Given the description of an element on the screen output the (x, y) to click on. 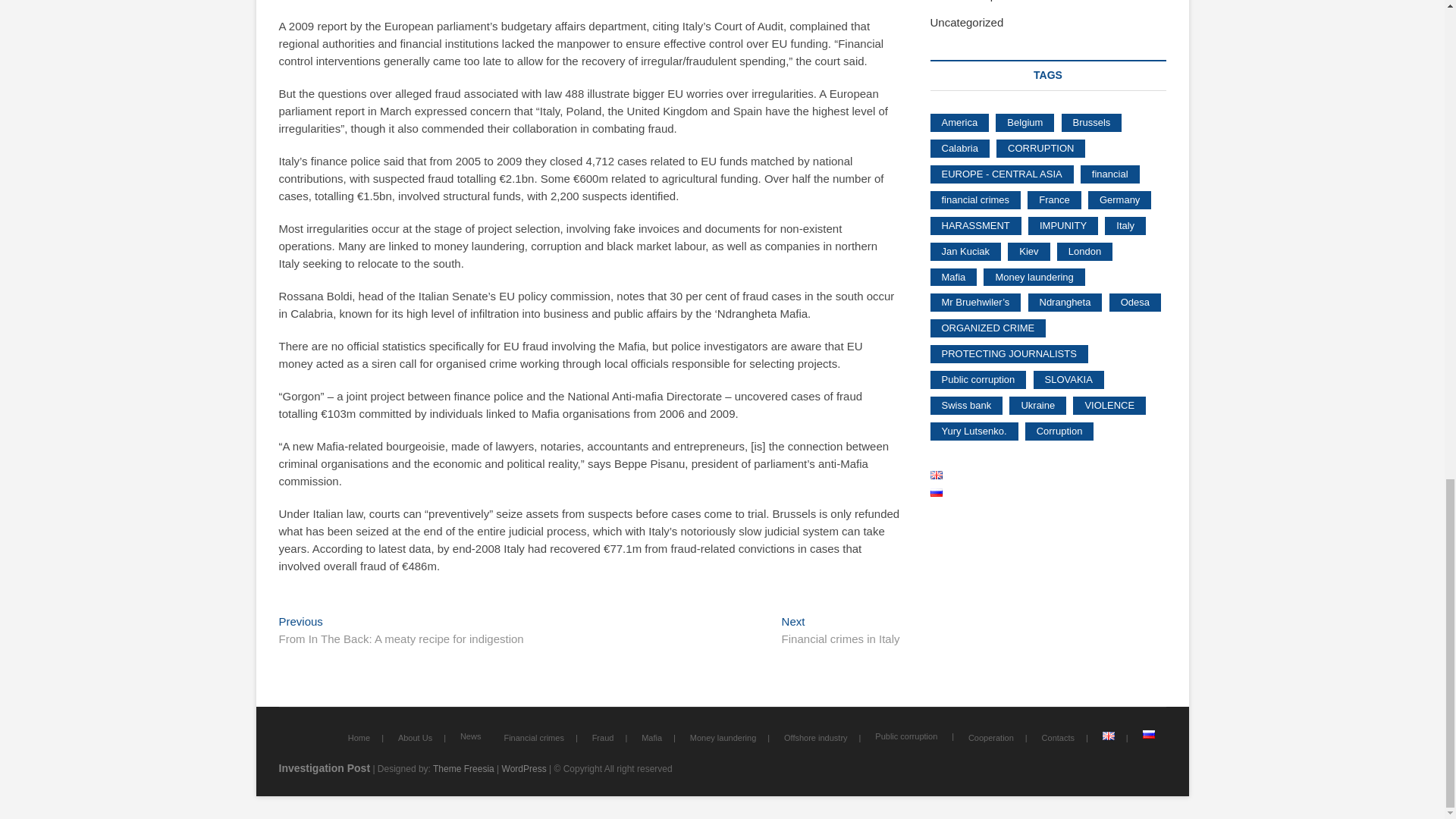
Theme Freesia (463, 768)
WordPress (524, 768)
Investigation Post (325, 767)
